Given the description of an element on the screen output the (x, y) to click on. 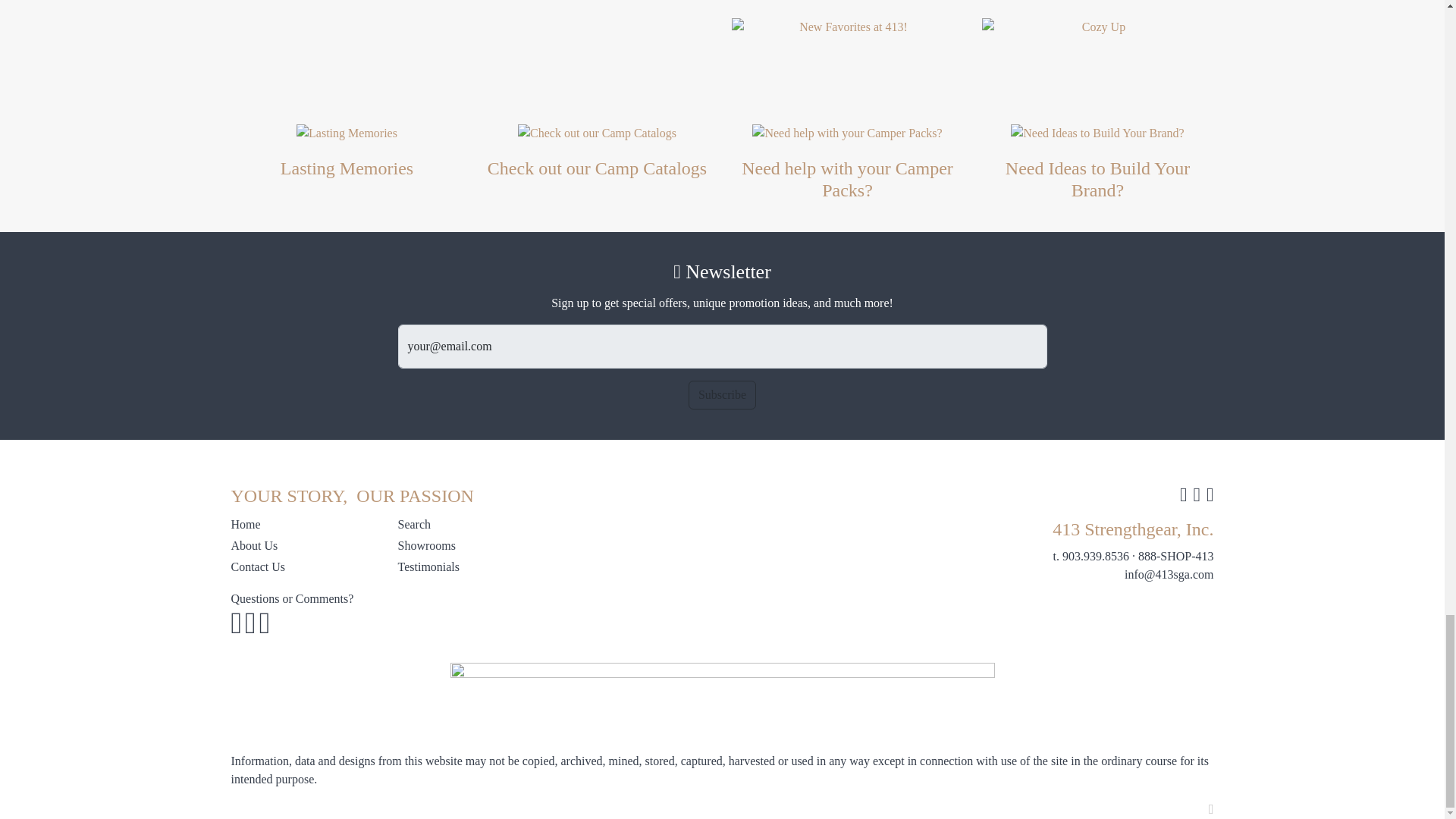
Subscribe (721, 394)
